Given the description of an element on the screen output the (x, y) to click on. 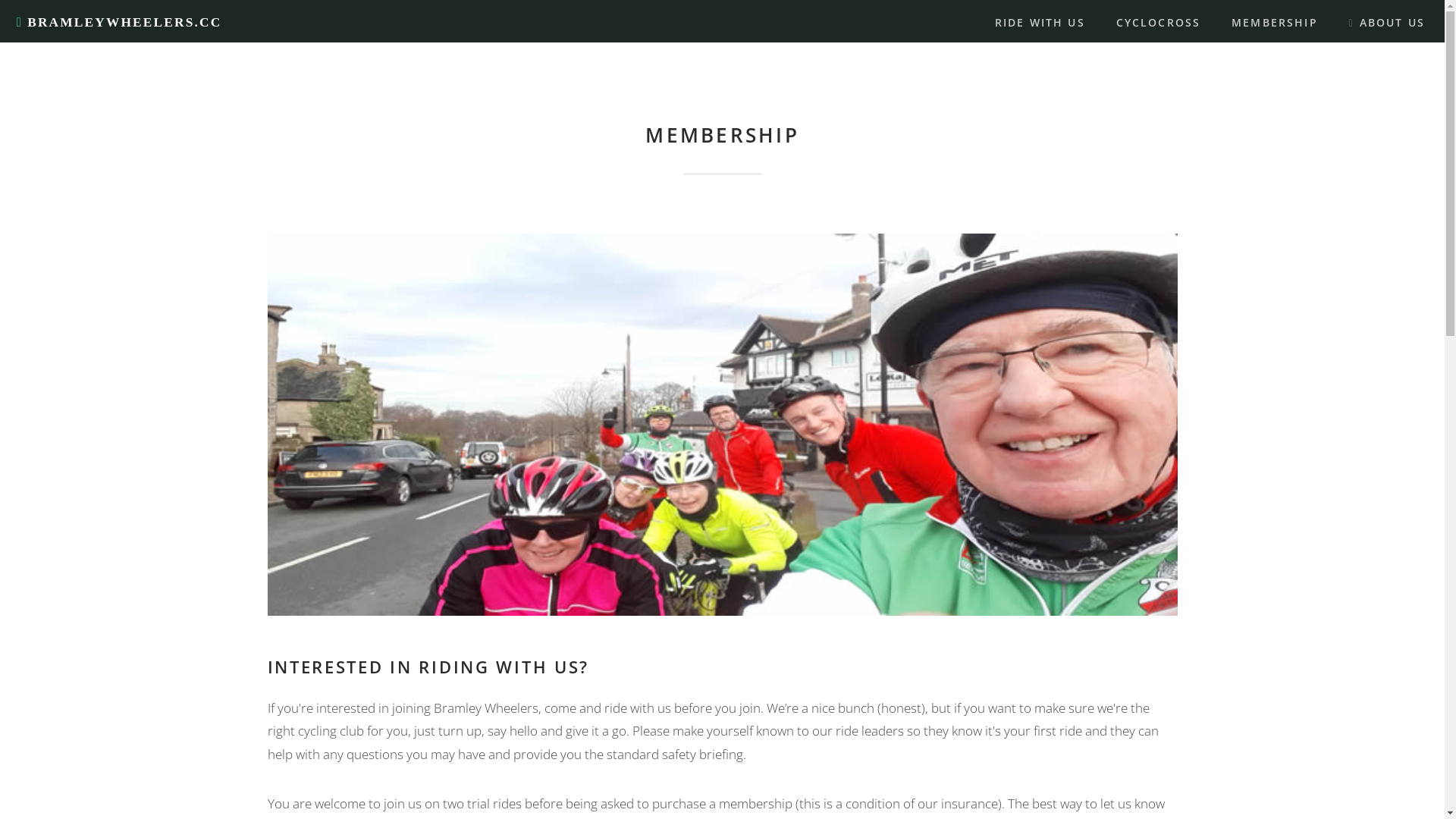
CYCLOCROSS Element type: text (1158, 22)
MEMBERSHIP Element type: text (1274, 22)
BRAMLEYWHEELERS.CC Element type: text (119, 21)
RIDE WITH US Element type: text (1039, 22)
ABOUT US Element type: text (1386, 22)
